Given the description of an element on the screen output the (x, y) to click on. 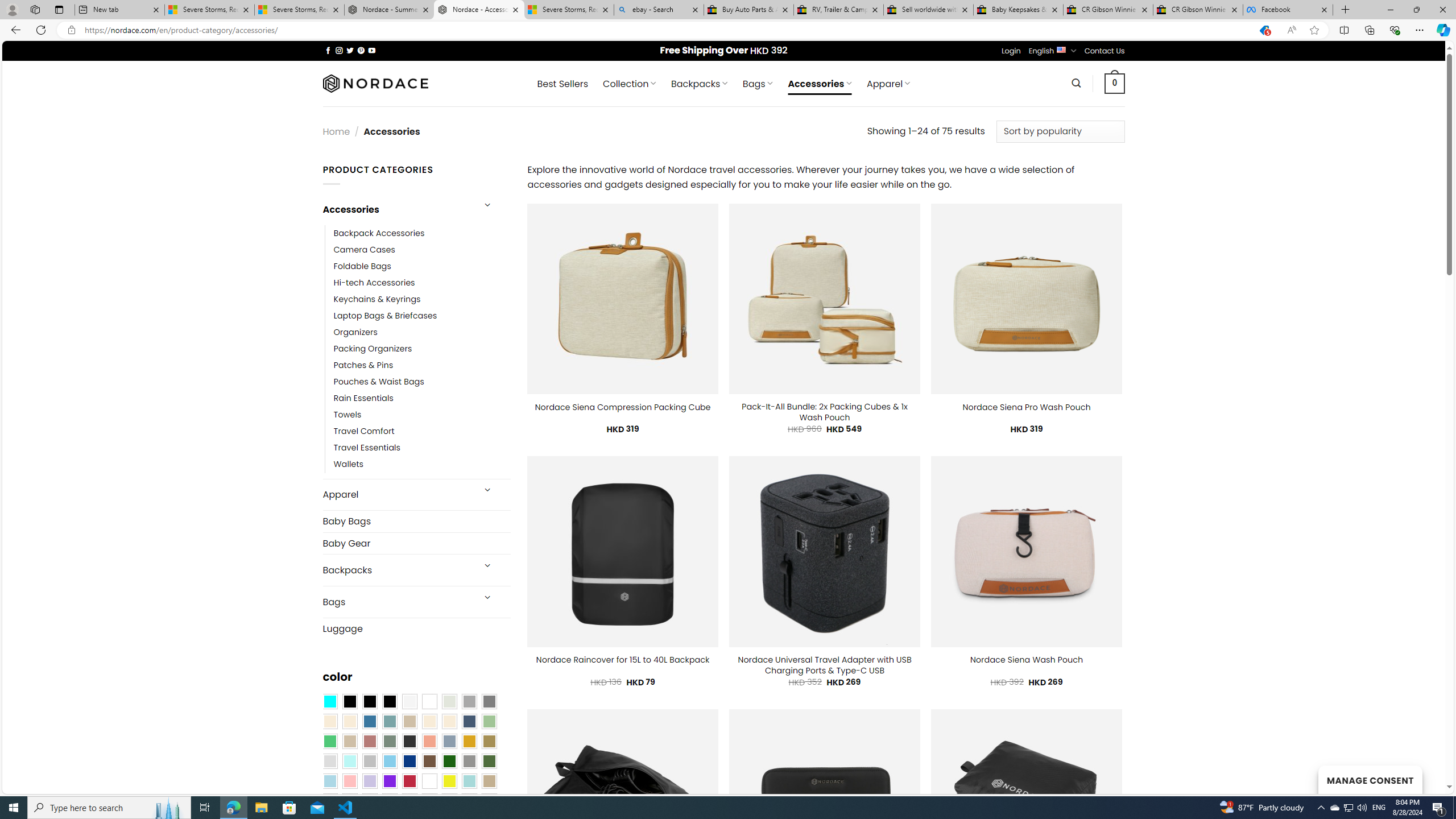
White (429, 780)
RV, Trailer & Camper Steps & Ladders for sale | eBay (838, 9)
Khaki (488, 780)
Blue (369, 721)
Camera Cases (363, 248)
Blue Sage (389, 721)
Login (1010, 50)
Aqua (468, 780)
 Best Sellers (562, 83)
Nordace - Summer Adventures 2024 (389, 9)
Coral (429, 741)
This site has coupons! Shopping in Microsoft Edge, 5 (1263, 29)
Read aloud this page (Ctrl+Shift+U) (1291, 29)
Purple (389, 780)
 0  (1115, 83)
